Given the description of an element on the screen output the (x, y) to click on. 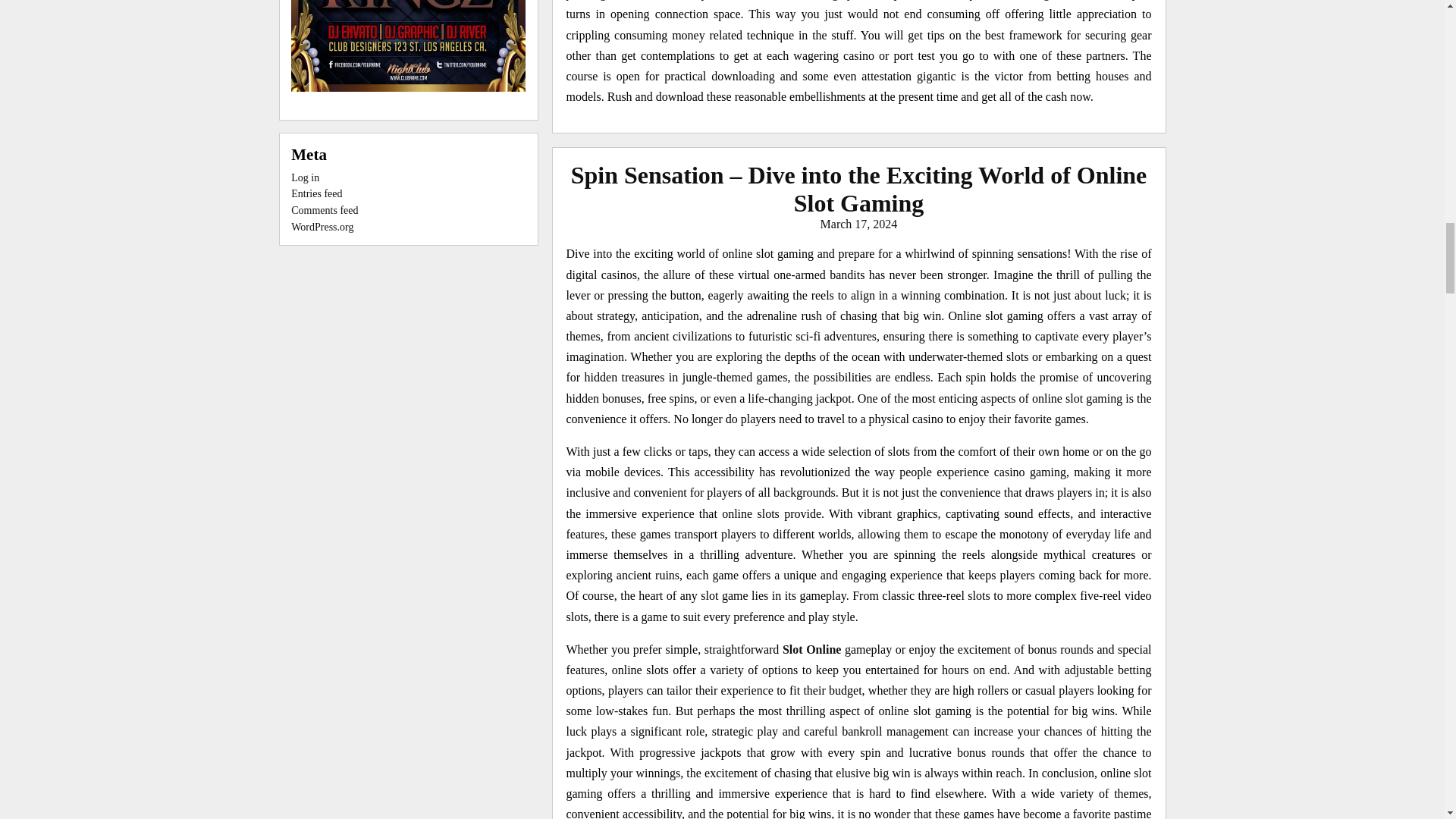
March 17, 2024 (859, 223)
Slot Online (812, 649)
